Given the description of an element on the screen output the (x, y) to click on. 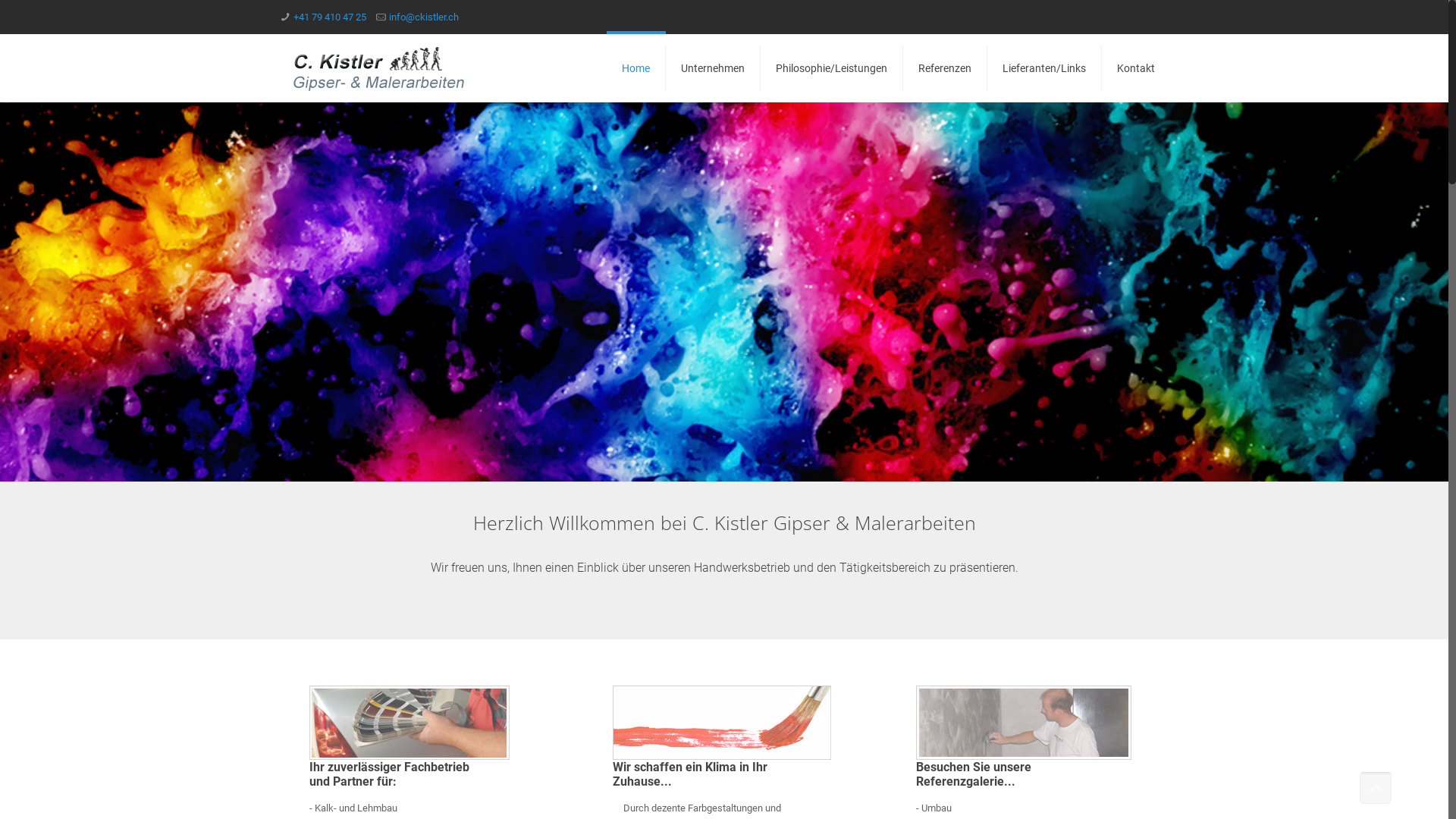
Referenzen Element type: text (945, 68)
info@ckistler.ch Element type: text (423, 16)
+41 79 410 47 25 Element type: text (329, 16)
Home Element type: text (635, 68)
Unternehmen Element type: text (712, 68)
Kontakt Element type: text (1135, 68)
C. Kistler Gipser & Malerarbeiten Element type: hover (378, 68)
Lieferanten/Links Element type: text (1044, 68)
Philosophie/Leistungen Element type: text (831, 68)
